Given the description of an element on the screen output the (x, y) to click on. 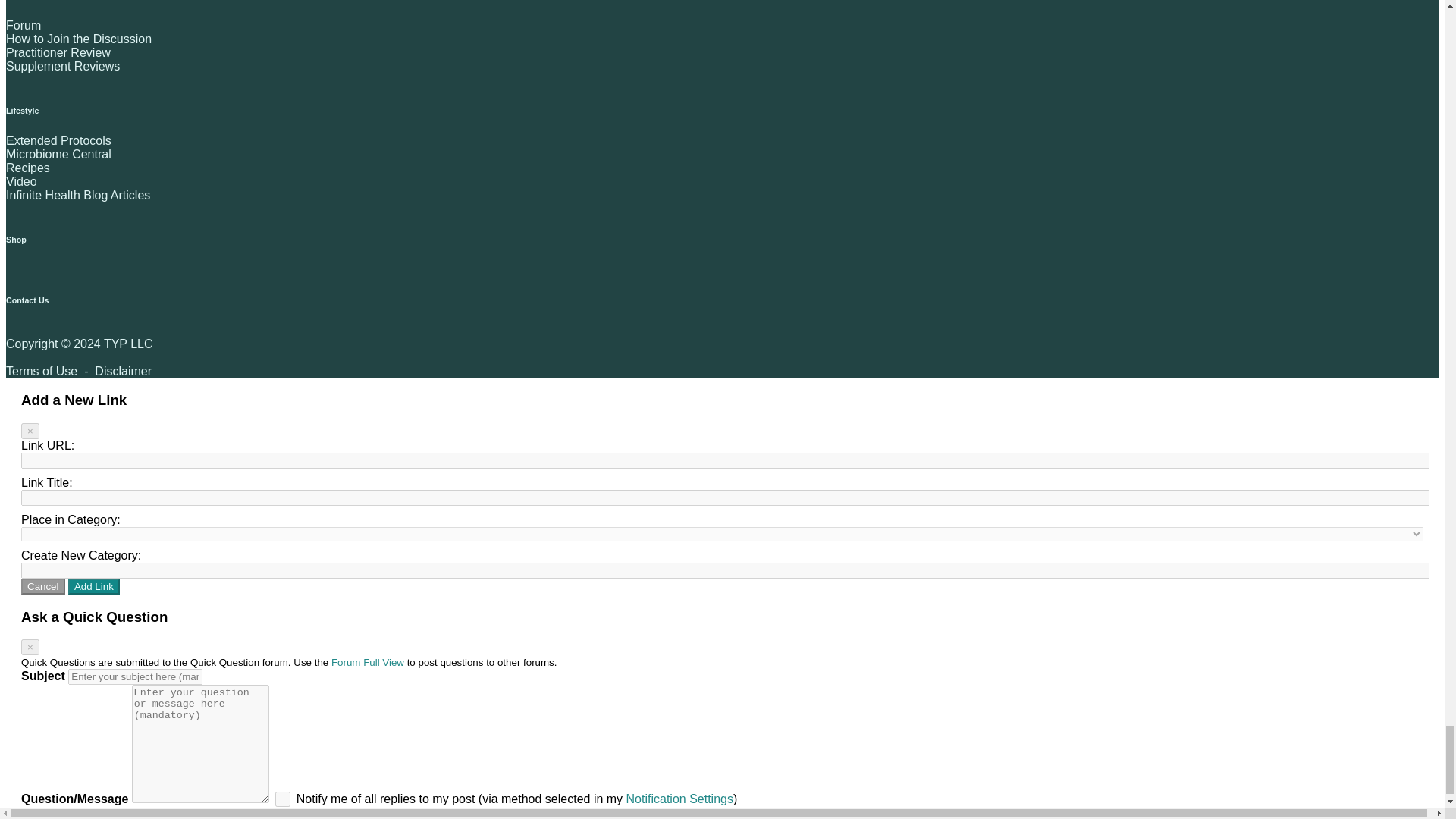
on (282, 798)
Add Link (93, 586)
